Given the description of an element on the screen output the (x, y) to click on. 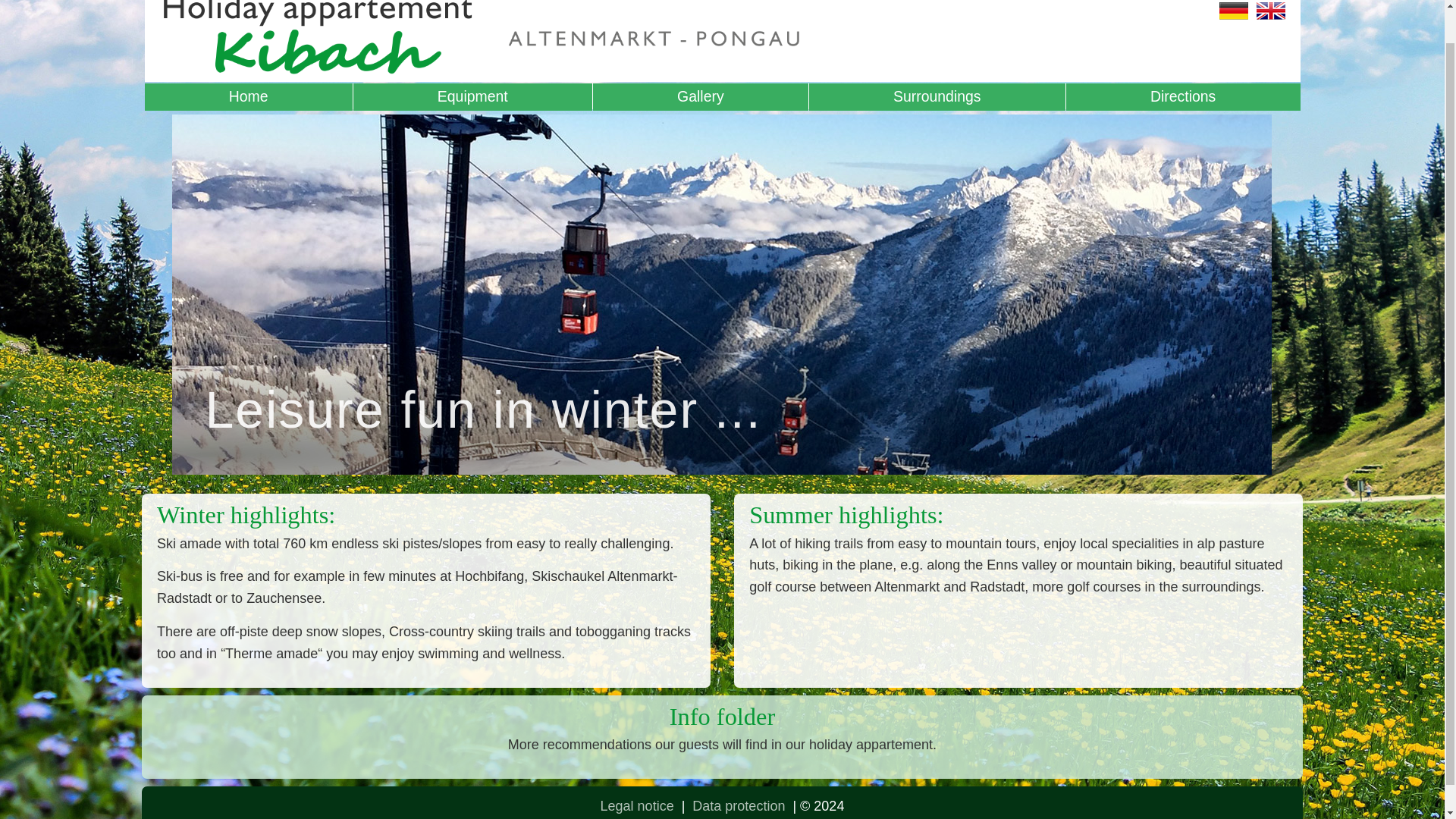
Home (248, 96)
Legal notice (636, 806)
Data protection (738, 806)
Surroundings (937, 96)
Gallery (700, 96)
Equipment (472, 96)
Directions (1182, 96)
